Given the description of an element on the screen output the (x, y) to click on. 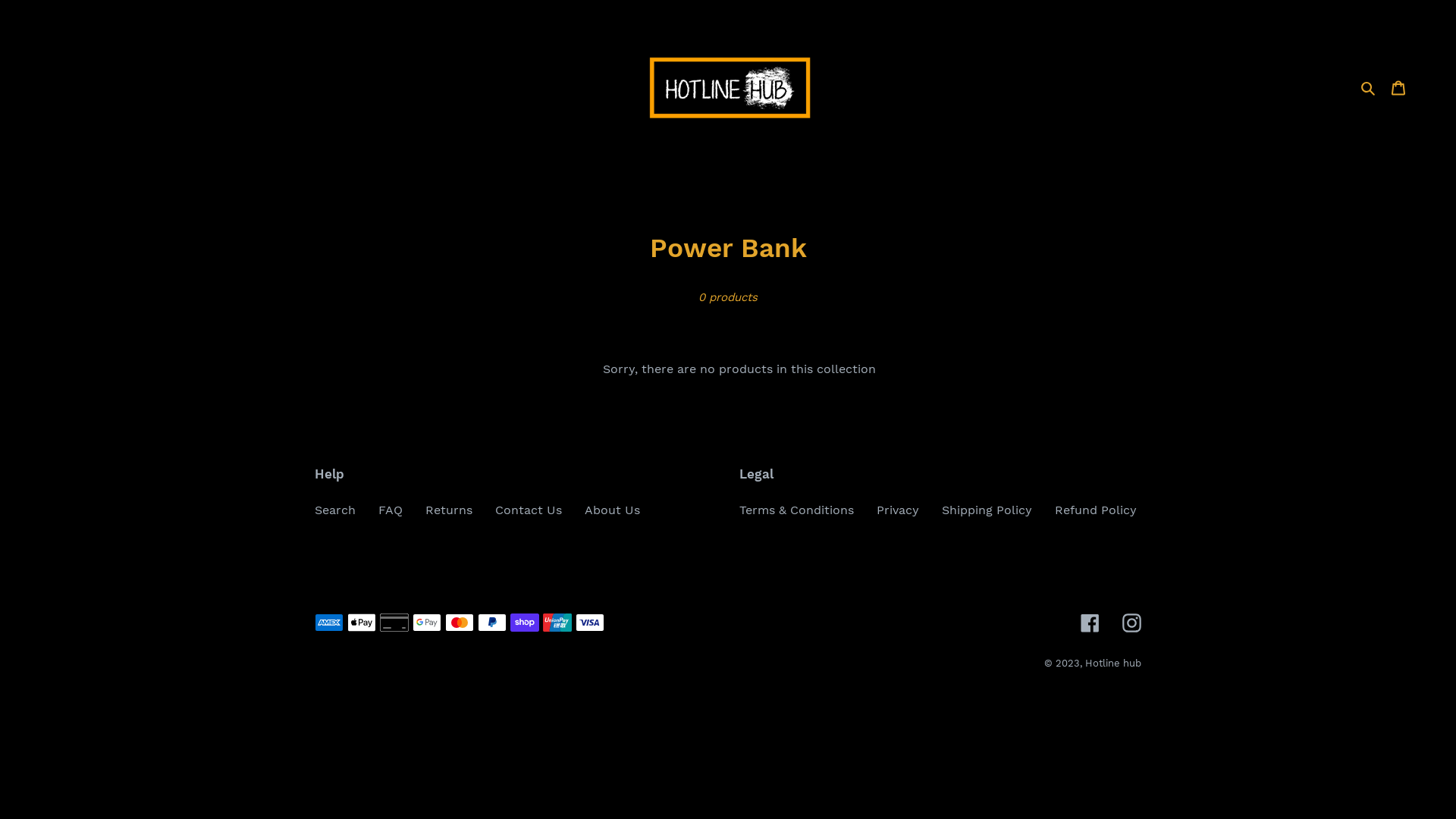
FAQ Element type: text (390, 509)
Shipping Policy Element type: text (986, 509)
Refund Policy Element type: text (1095, 509)
Terms & Conditions Element type: text (796, 509)
Hotline hub Element type: text (1113, 662)
Search Element type: text (334, 509)
Contact Us Element type: text (528, 509)
About Us Element type: text (612, 509)
Instagram Element type: text (1131, 622)
Facebook Element type: text (1089, 622)
Privacy Element type: text (897, 509)
Search Element type: text (1368, 87)
Returns Element type: text (448, 509)
Cart Element type: text (1398, 86)
